Given the description of an element on the screen output the (x, y) to click on. 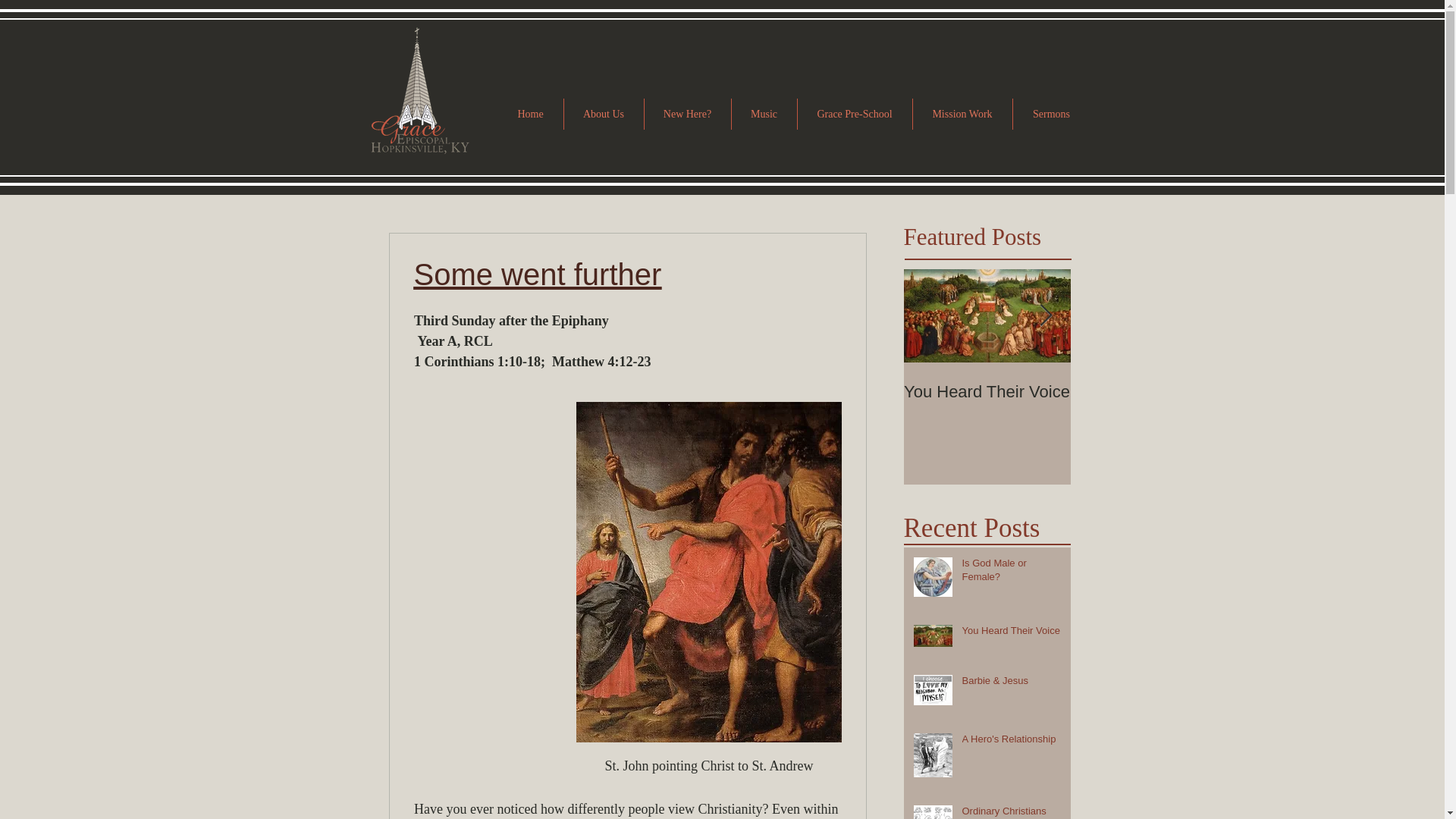
Grace Pre-School (854, 113)
About Us (603, 113)
You Heard Their Voice (987, 392)
Sermons (1051, 113)
Is God Male or Female? (1010, 572)
You Heard Their Voice (1010, 633)
Home (529, 113)
A Hero's Relationship (1010, 742)
Ordinary Christians (1010, 811)
New Here? (687, 113)
